Given the description of an element on the screen output the (x, y) to click on. 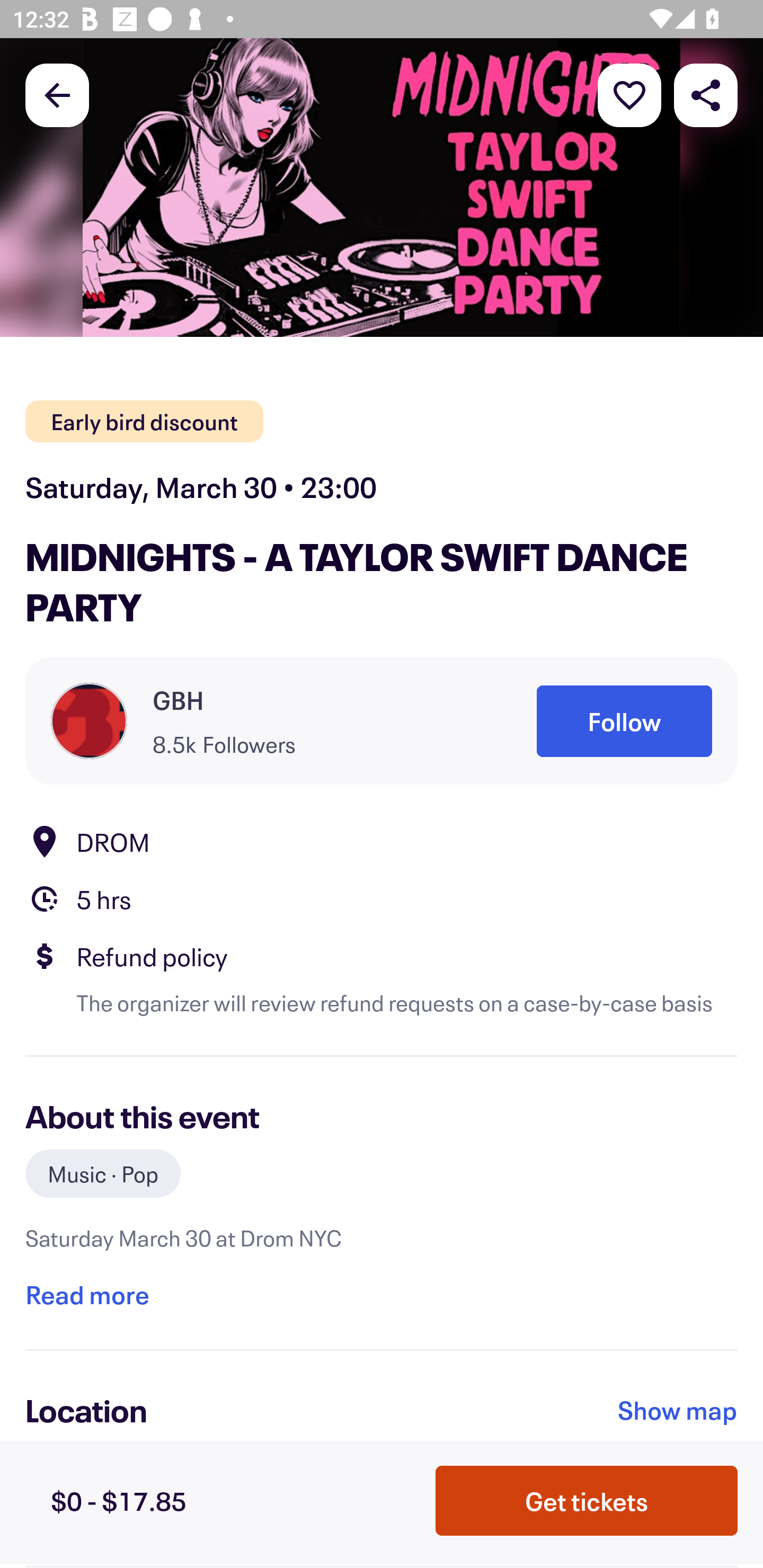
Back (57, 94)
More (629, 94)
Share (705, 94)
Early bird discount (144, 421)
GBH (178, 699)
Organizer profile picture (89, 720)
Follow (623, 720)
Location DROM (381, 840)
Read more (87, 1293)
Show map (677, 1410)
